Given the description of an element on the screen output the (x, y) to click on. 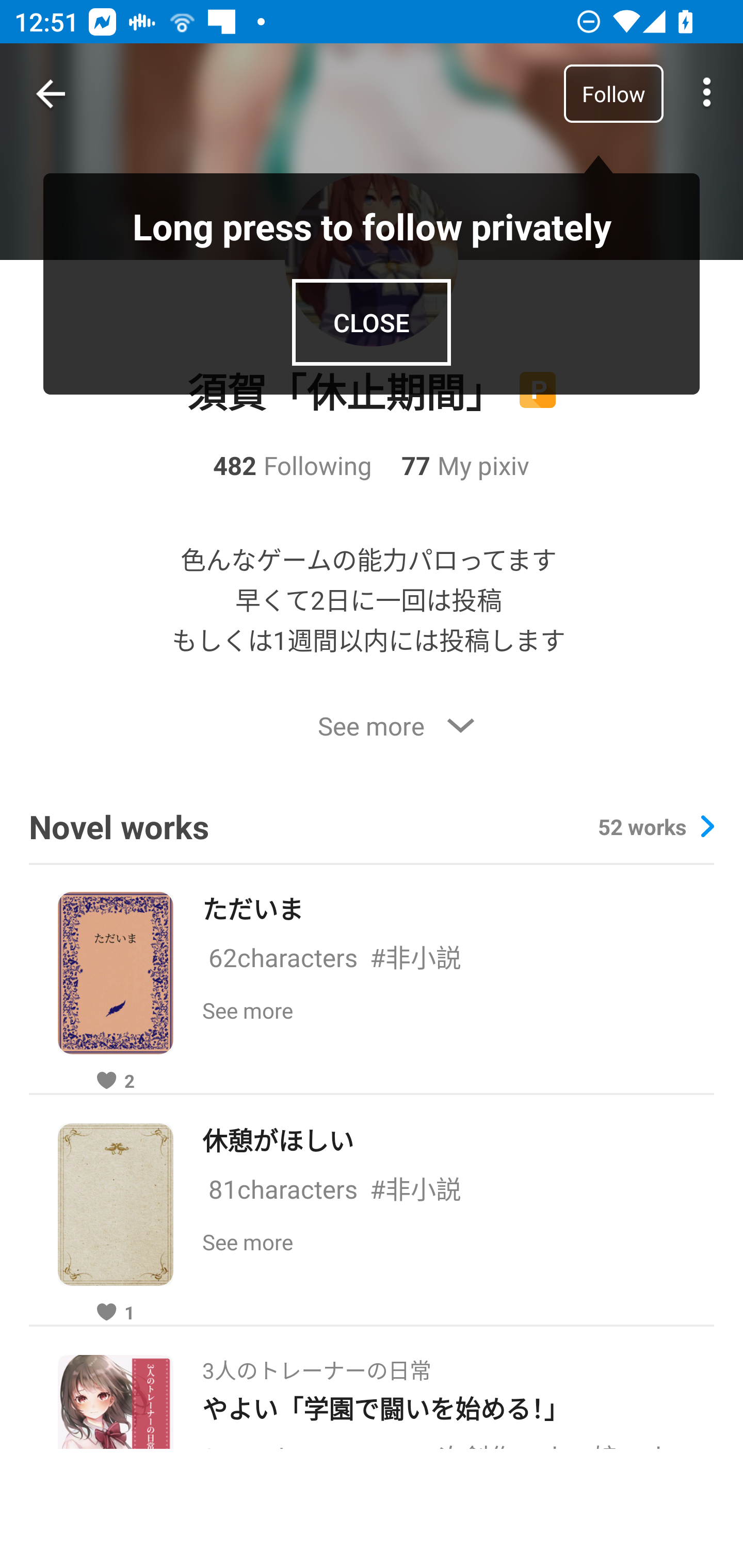
Navigate up (50, 93)
More options (706, 93)
Follow (613, 93)
CLOSE (371, 322)
482 Following (292, 465)
77 My pixiv (450, 465)
See more (371, 725)
52 works (656, 827)
ただいま  62characters  #非小説 See more 2 (371, 977)
休憩がほしい  81characters  #非小説 See more 1 (371, 1209)
3人のトレーナーの日常 (316, 1364)
